Given the description of an element on the screen output the (x, y) to click on. 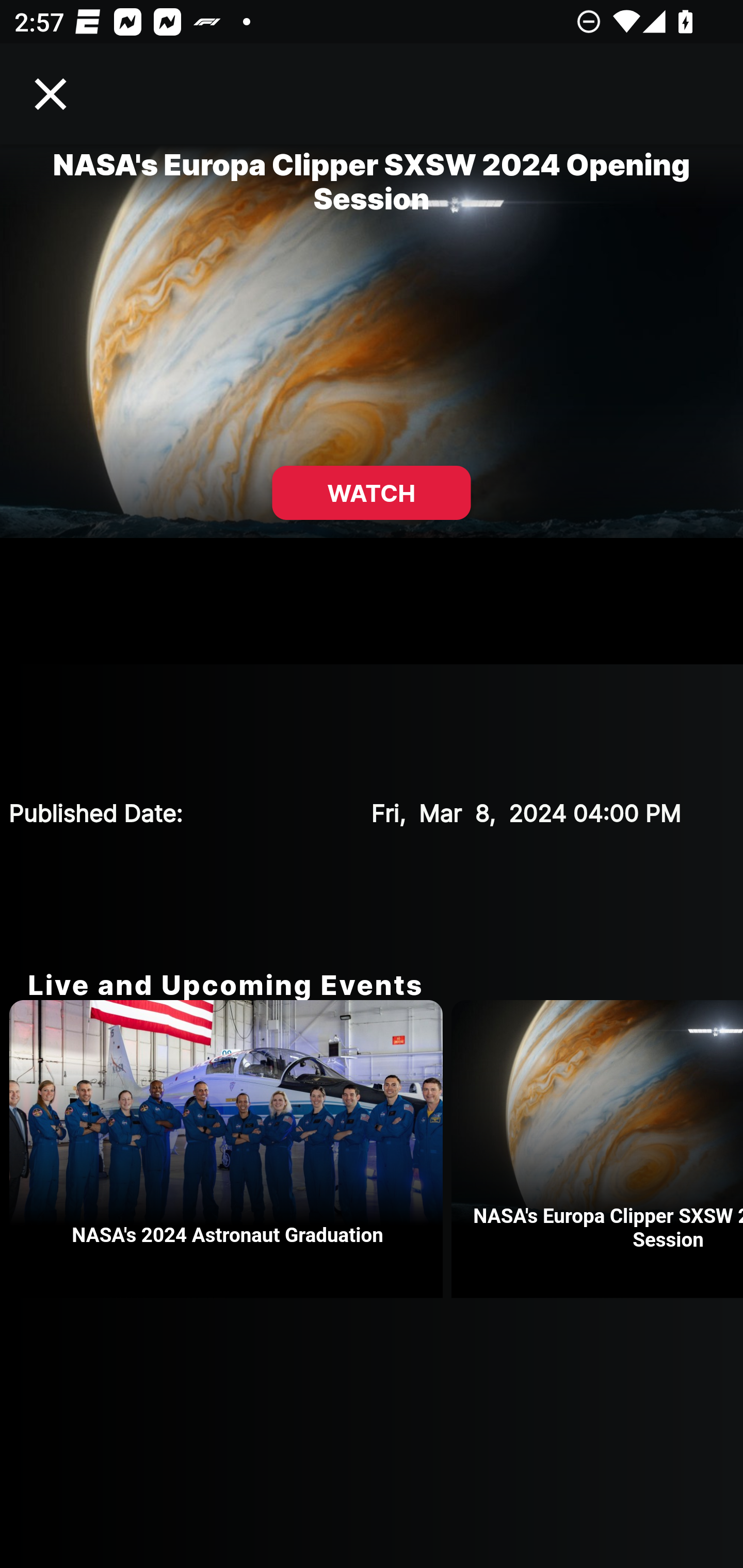
WATCH (371, 492)
NASA's 2024 Astronaut Graduation (229, 1149)
NASA's Europa Clipper SXSW 2024 Opening Session (597, 1149)
